Given the description of an element on the screen output the (x, y) to click on. 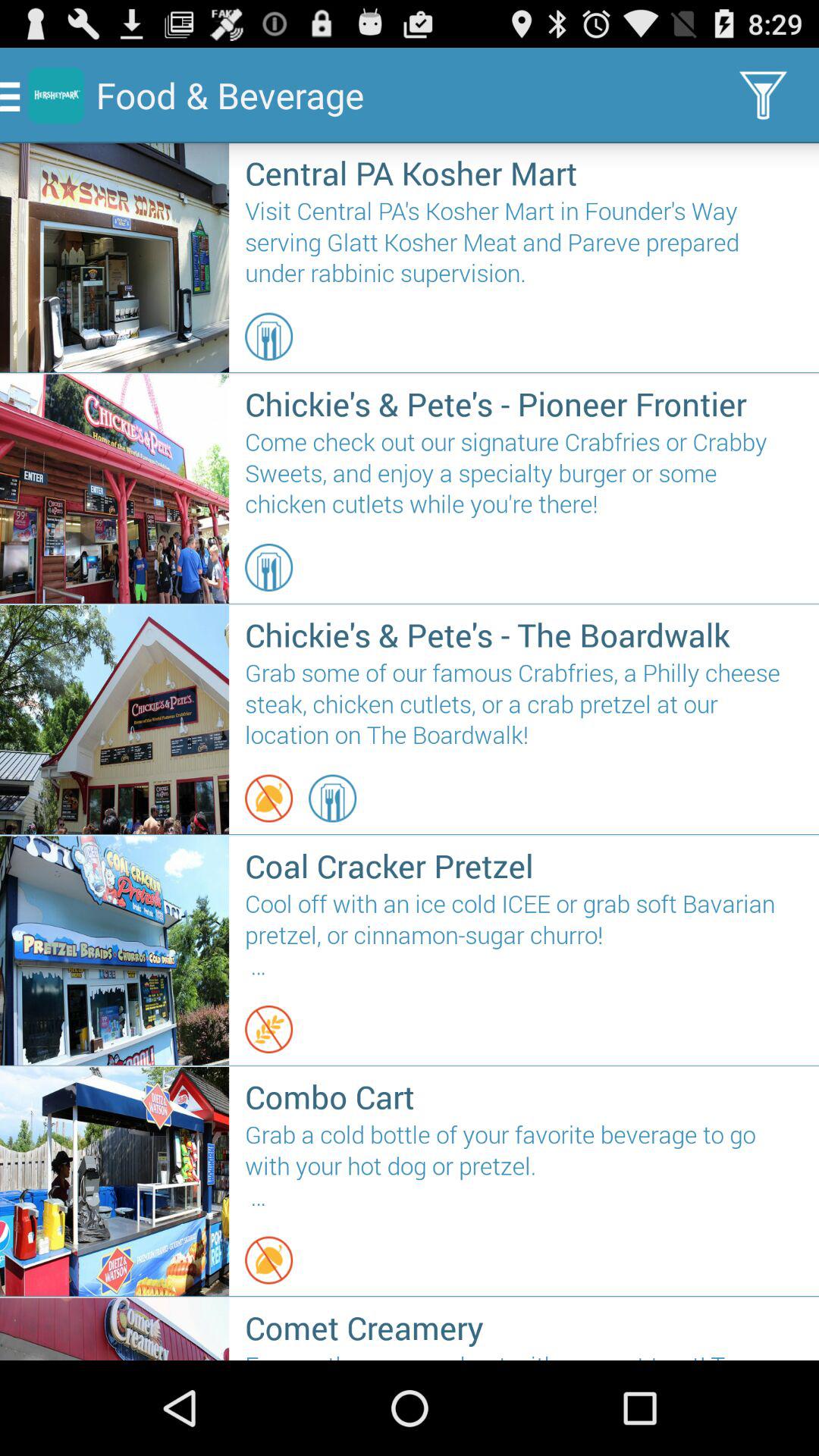
choose comet creamery icon (524, 1327)
